Given the description of an element on the screen output the (x, y) to click on. 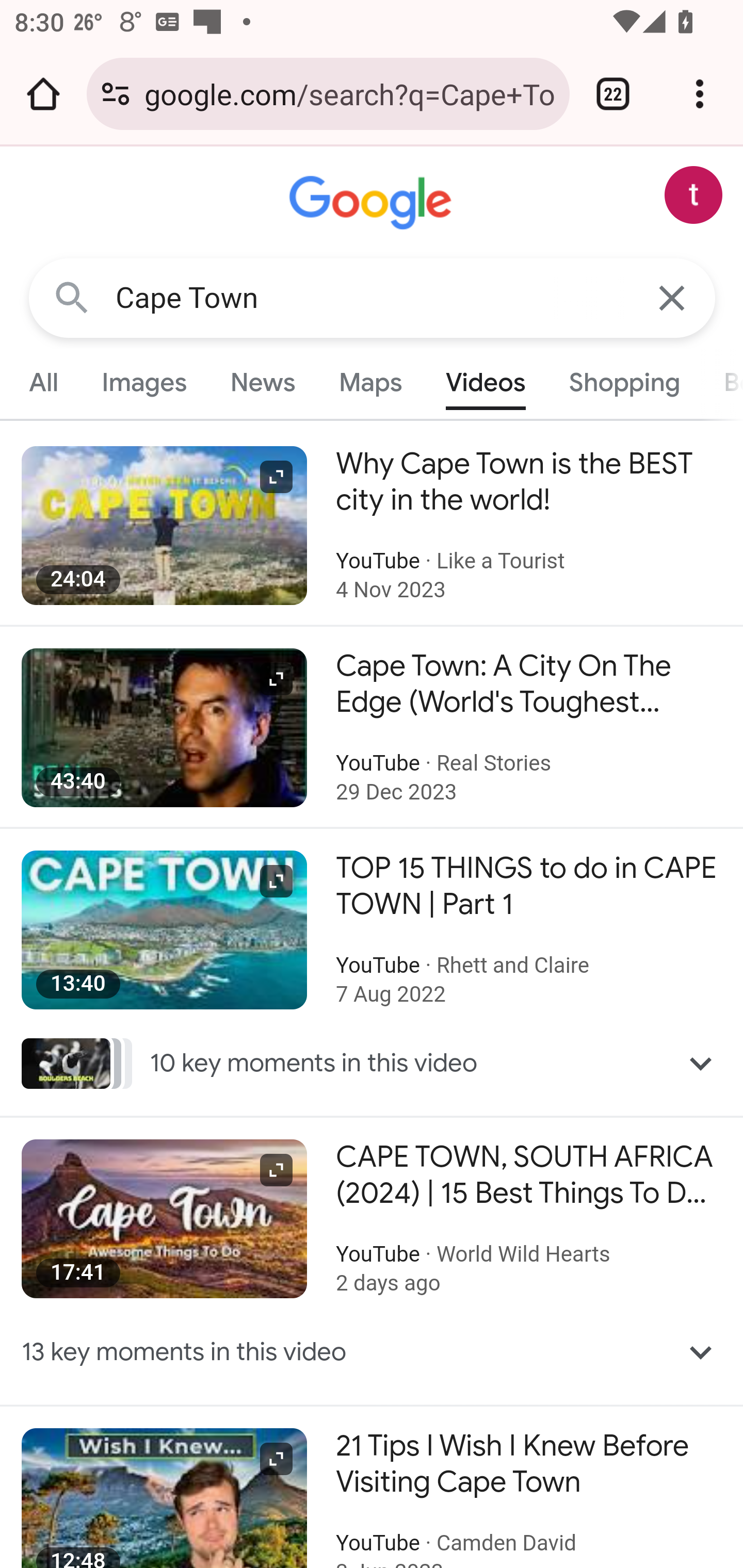
Open the home page (43, 93)
Connection is secure (115, 93)
Switch or close tabs (612, 93)
Customize and control Google Chrome (699, 93)
Google (372, 203)
Google Search (71, 296)
Clear Search (672, 296)
Cape Town (372, 297)
All (43, 382)
Images (144, 382)
News (262, 382)
Maps (369, 382)
Shopping (623, 382)
10 key moments in this video (372, 1062)
13 key moments in this video (372, 1352)
